Given the description of an element on the screen output the (x, y) to click on. 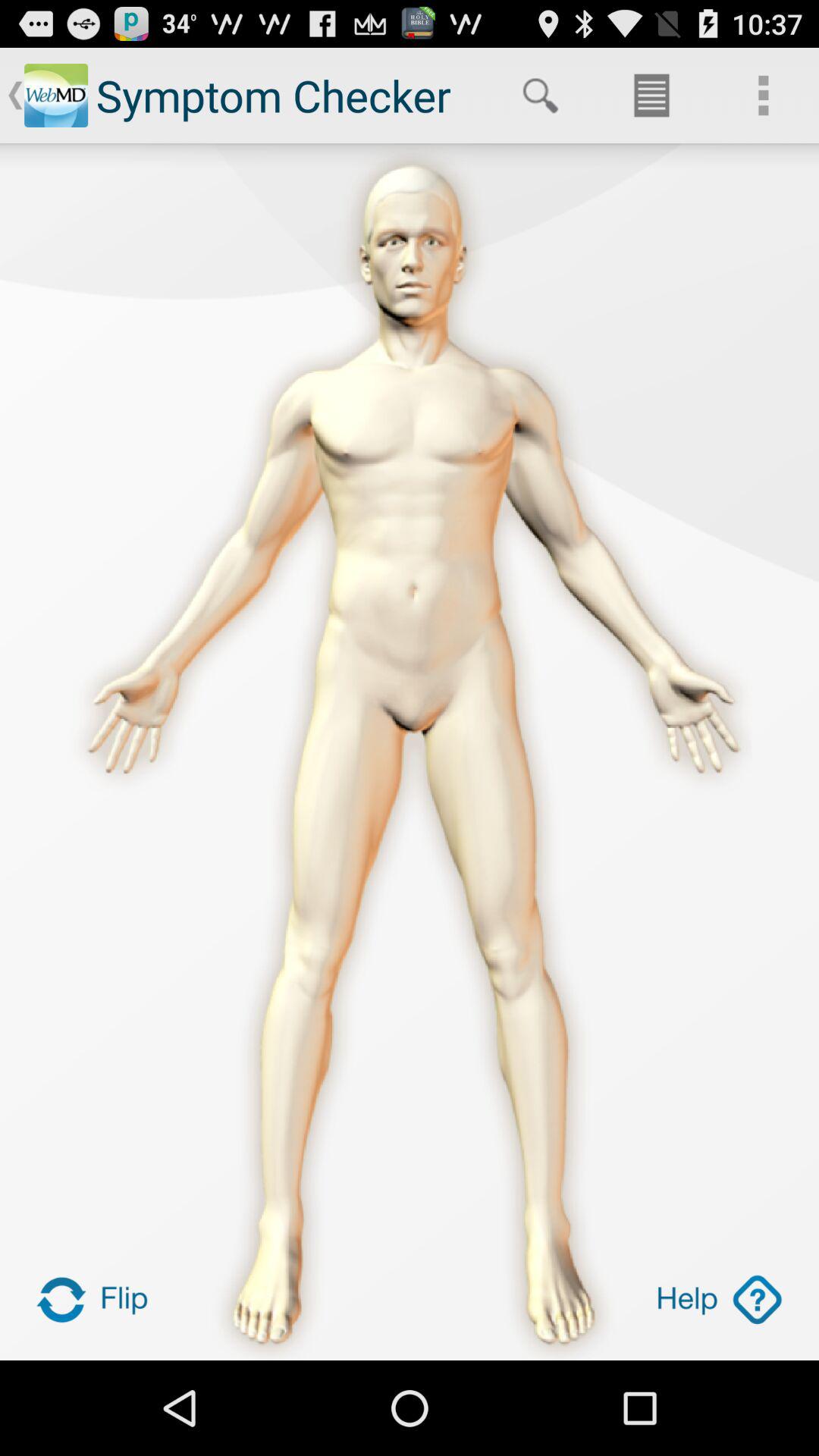
turns the image around (99, 1299)
